Given the description of an element on the screen output the (x, y) to click on. 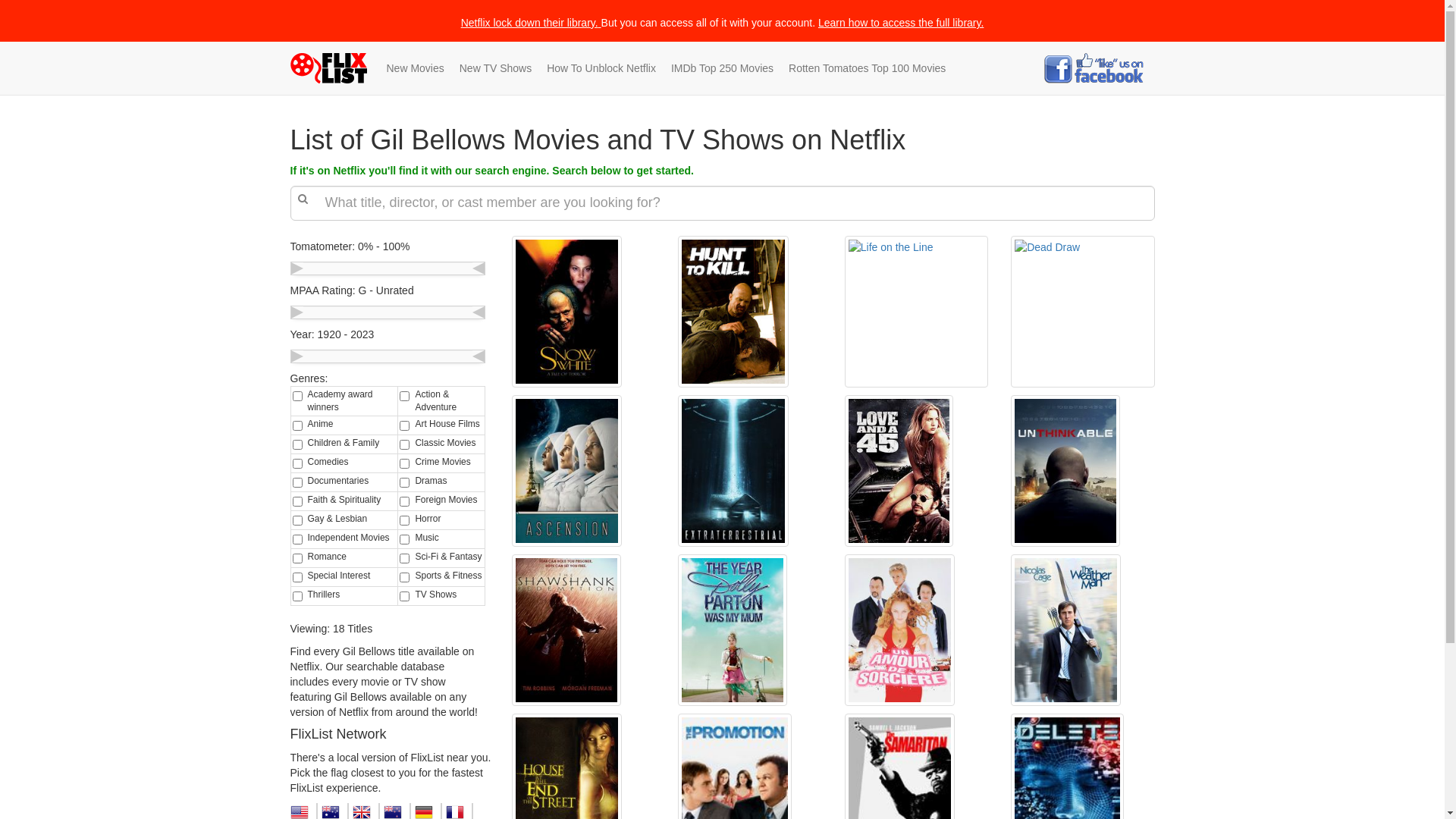
Hunt to Kill Element type: hover (732, 311)
How To Unblock Netflix Element type: text (601, 67)
The Weather Man Element type: hover (1065, 630)
Rotten Tomatoes Top 100 Movies Element type: text (867, 67)
Learn how to access the full library. Element type: text (900, 22)
IMDb Top 250 Movies Element type: text (722, 67)
The Shawshank Redemption Element type: hover (566, 630)
The Year Dolly Parton Was My Mum Element type: hover (732, 630)
Love and a .45 Element type: hover (898, 470)
Unthinkable Element type: hover (1065, 470)
New TV Shows Element type: text (495, 67)
Ascension Element type: hover (566, 470)
Extraterrestrial Element type: hover (732, 470)
Snow White: A Tale of Terror Element type: hover (566, 311)
Dead Draw Element type: hover (1082, 311)
Life on the Line Element type: hover (916, 311)
New Movies Element type: text (415, 67)
Netflix lock down their library. Element type: text (529, 22)
